Given the description of an element on the screen output the (x, y) to click on. 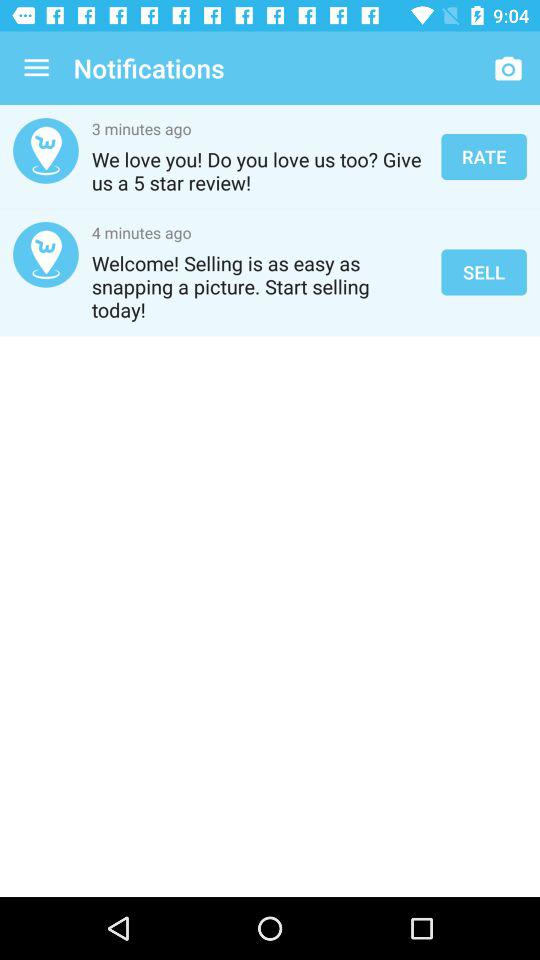
swipe until the we love you item (259, 171)
